Given the description of an element on the screen output the (x, y) to click on. 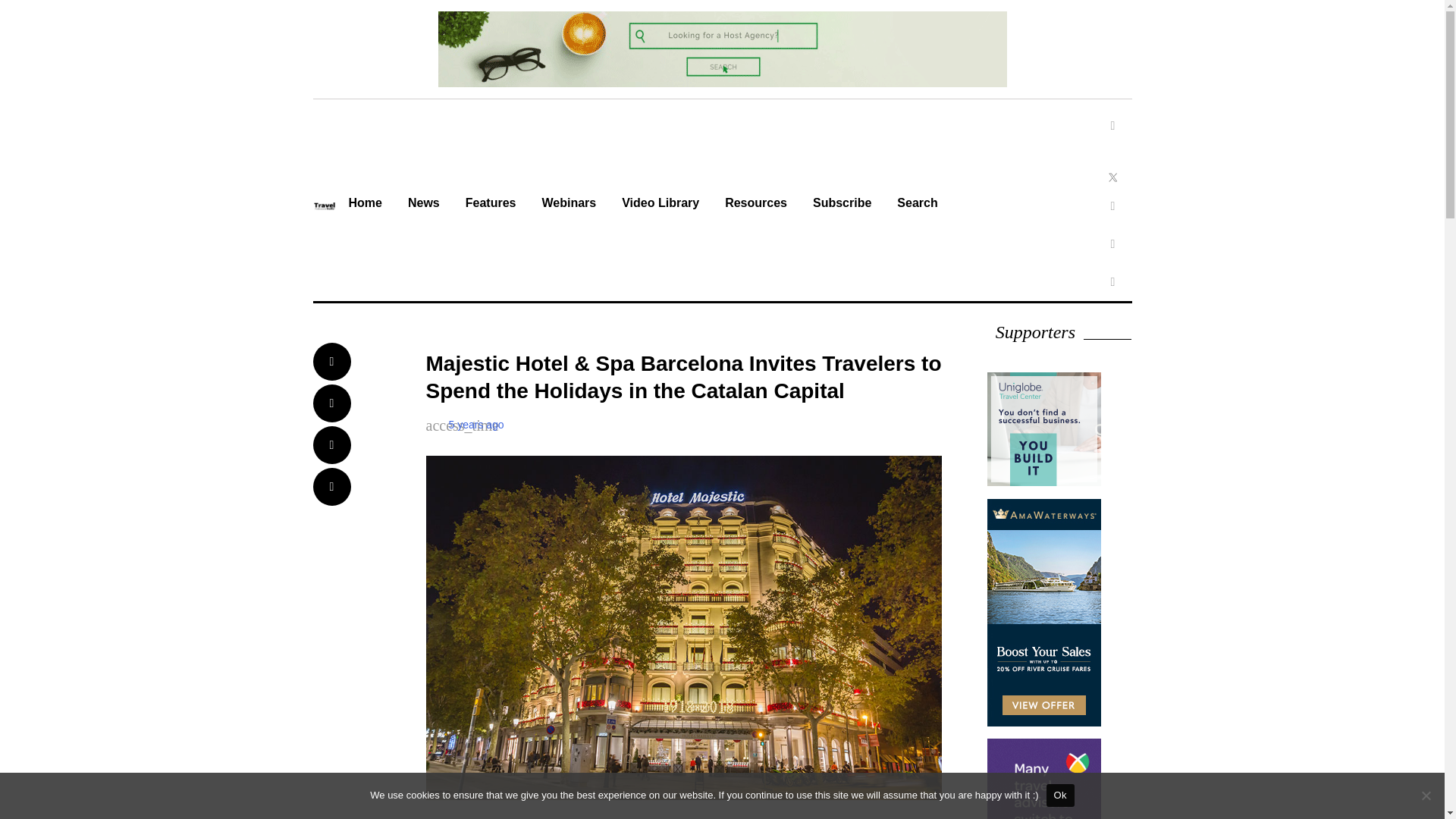
Search (916, 205)
LinkedIn (1112, 243)
Features (490, 205)
There is no place like home (364, 205)
Home (364, 205)
Instagram (1112, 206)
Video Library (659, 205)
Share on LinkedIn (331, 444)
Webinars (568, 205)
Twitter (1112, 163)
No (1425, 795)
Resources (755, 205)
Youtube (1112, 281)
Share on Twitter (331, 403)
Subscribe (841, 205)
